Given the description of an element on the screen output the (x, y) to click on. 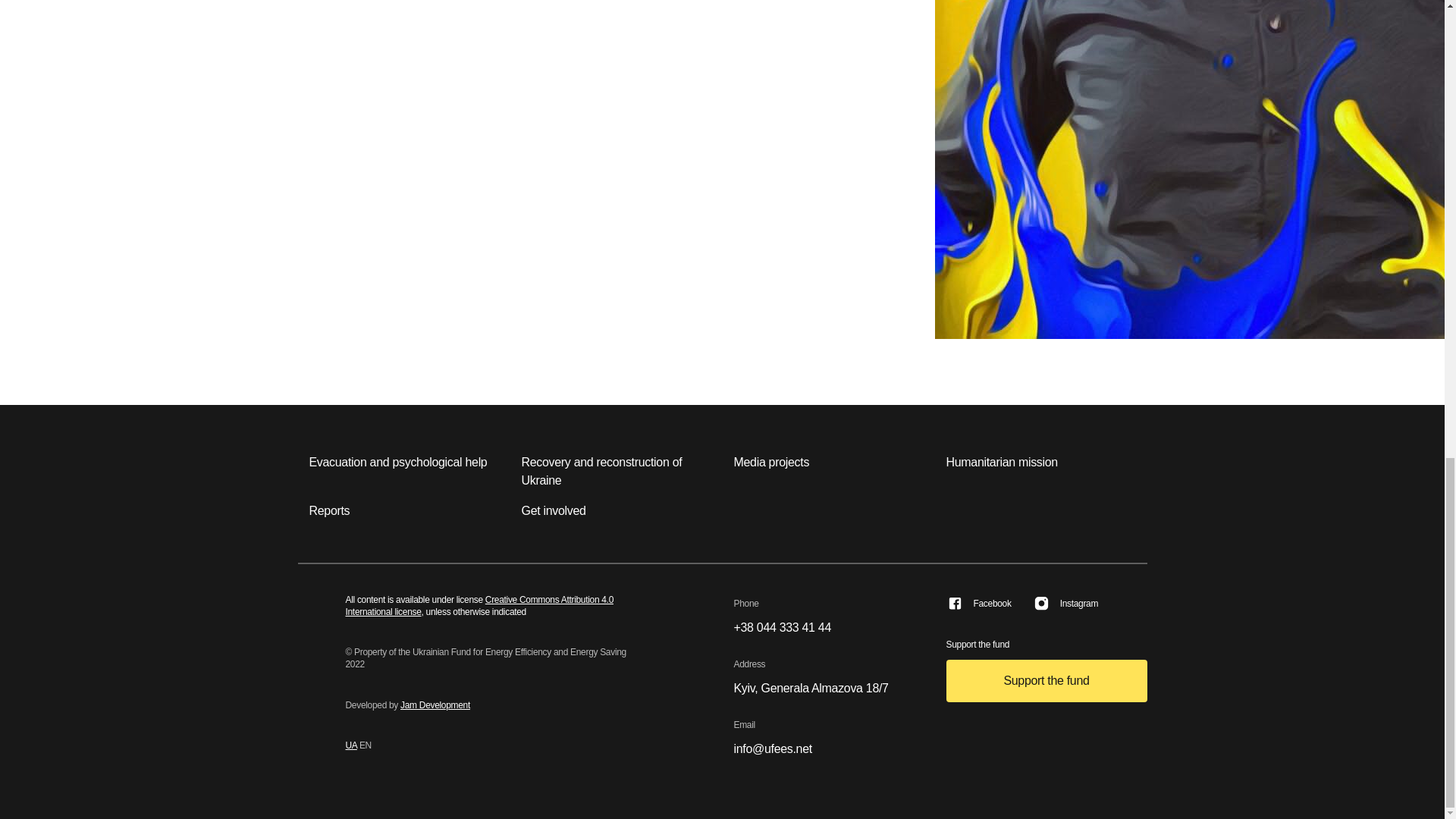
Get involved (553, 511)
Instagram (1064, 603)
Humanitarian mission (1002, 462)
Evacuation and psychological help (397, 462)
Creative Commons Attribution 4.0 International license (480, 605)
Facebook (978, 603)
Support the fund (1046, 680)
Recovery and reconstruction of Ukraine (616, 471)
Jam Development (435, 705)
Media projects (771, 462)
